Given the description of an element on the screen output the (x, y) to click on. 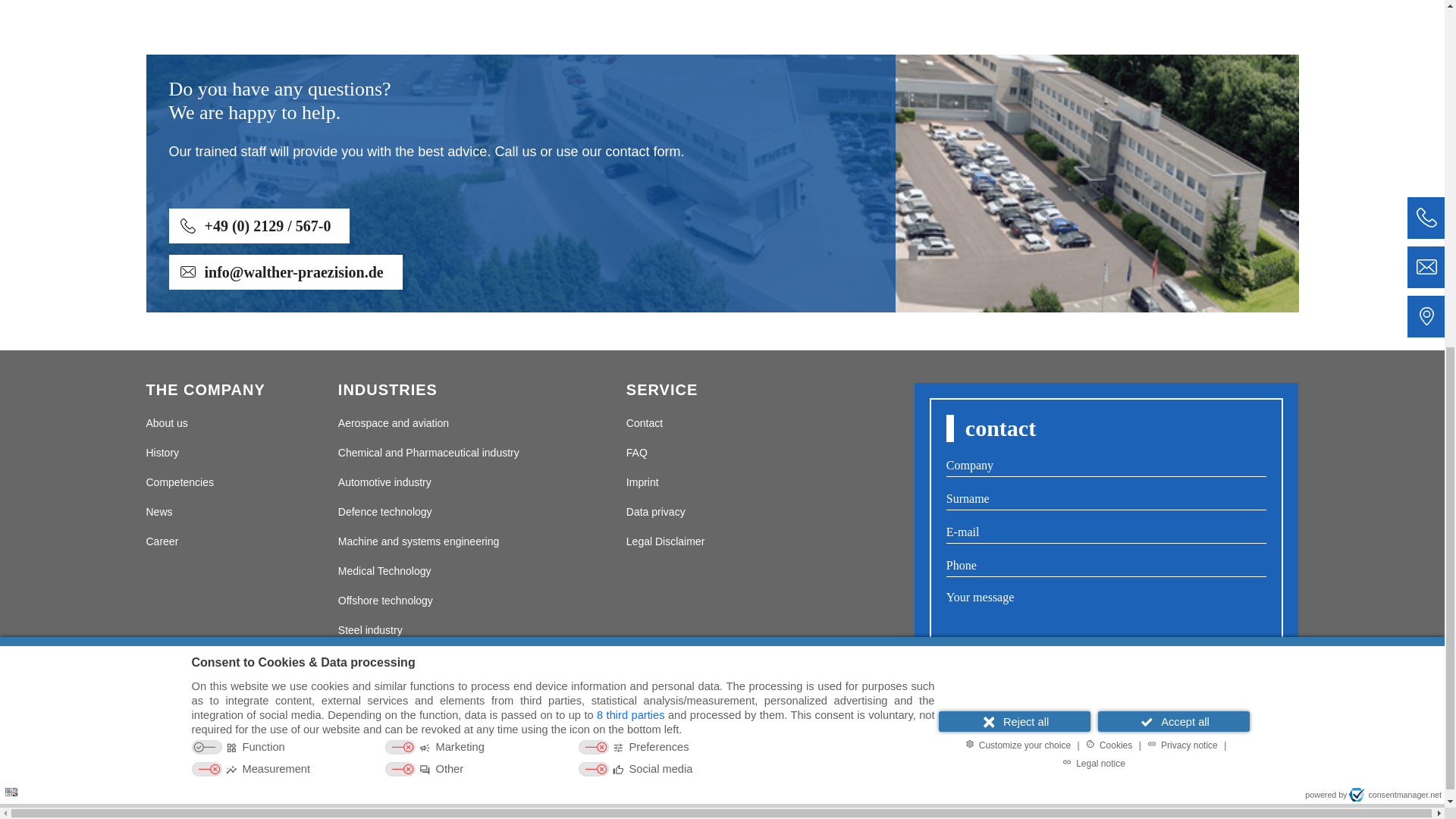
send (1106, 769)
Privacy settings (17, 174)
Language: en (11, 176)
consentmanager.net (1395, 179)
Privacy notice (1181, 129)
Customize your choice (1017, 129)
Yes (953, 688)
Accept all (1173, 106)
Legal notice (1093, 147)
Cookies (1108, 129)
Reject all (1014, 106)
Language: en (11, 176)
Purpose (562, 144)
8 third parties (629, 100)
